Given the description of an element on the screen output the (x, y) to click on. 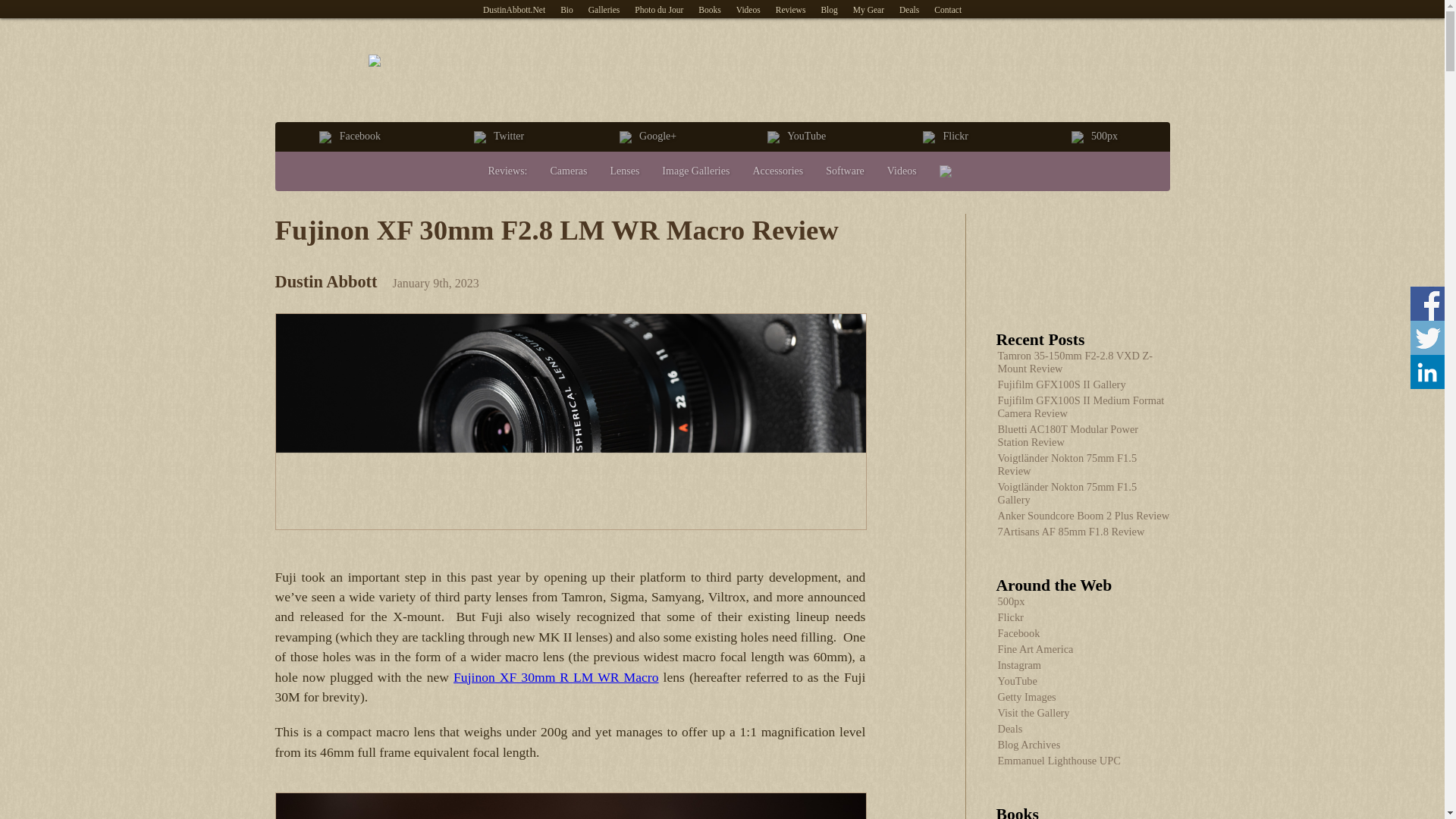
Bio (566, 9)
03-Macro (570, 805)
Videos (748, 9)
Blog (828, 9)
Photo du Jour (658, 9)
Reviews: (507, 170)
Reviews (790, 9)
Software (844, 170)
Twitter (499, 136)
500px (1094, 136)
